Given the description of an element on the screen output the (x, y) to click on. 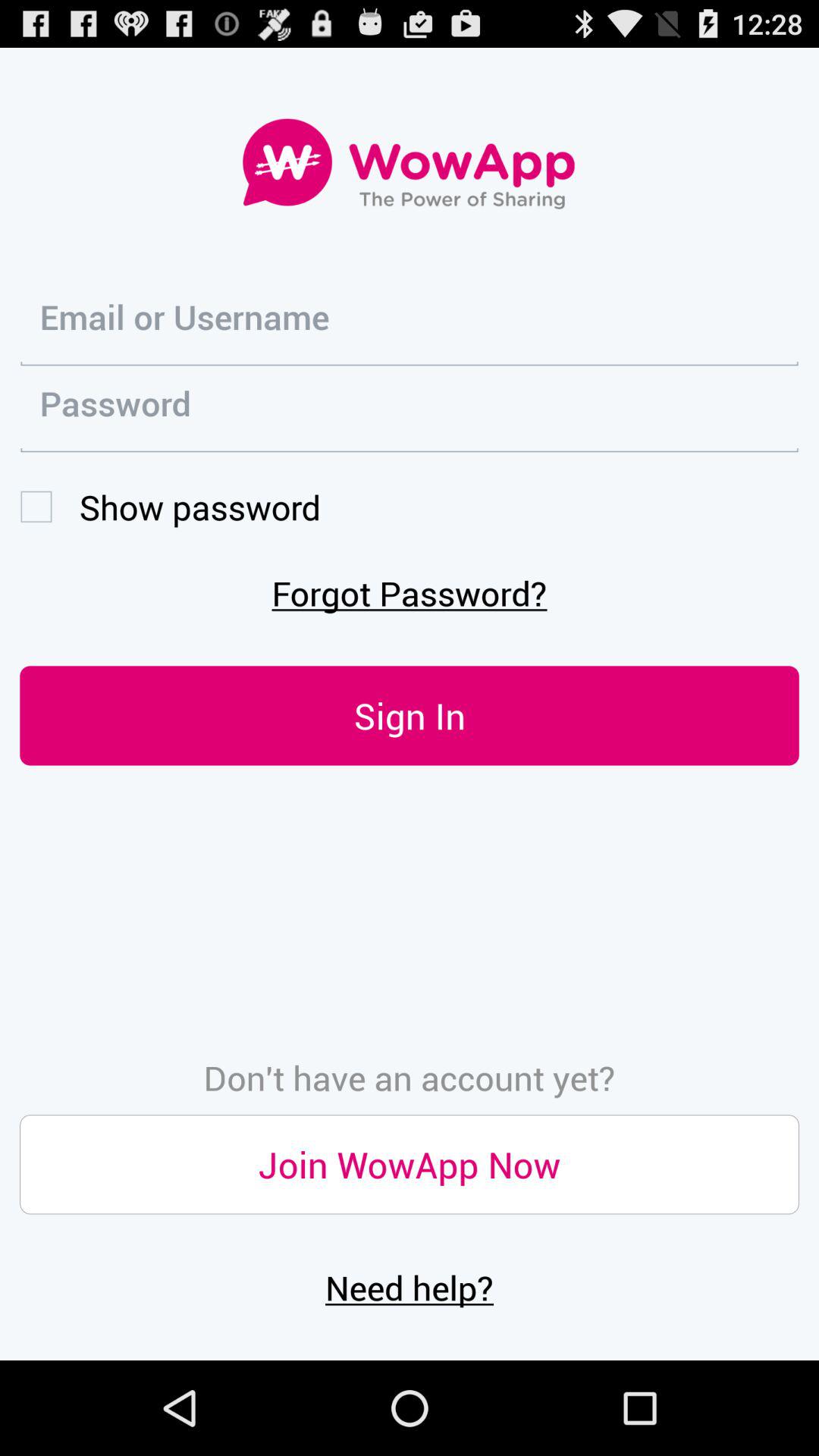
turn off icon below the don t have icon (409, 1164)
